Given the description of an element on the screen output the (x, y) to click on. 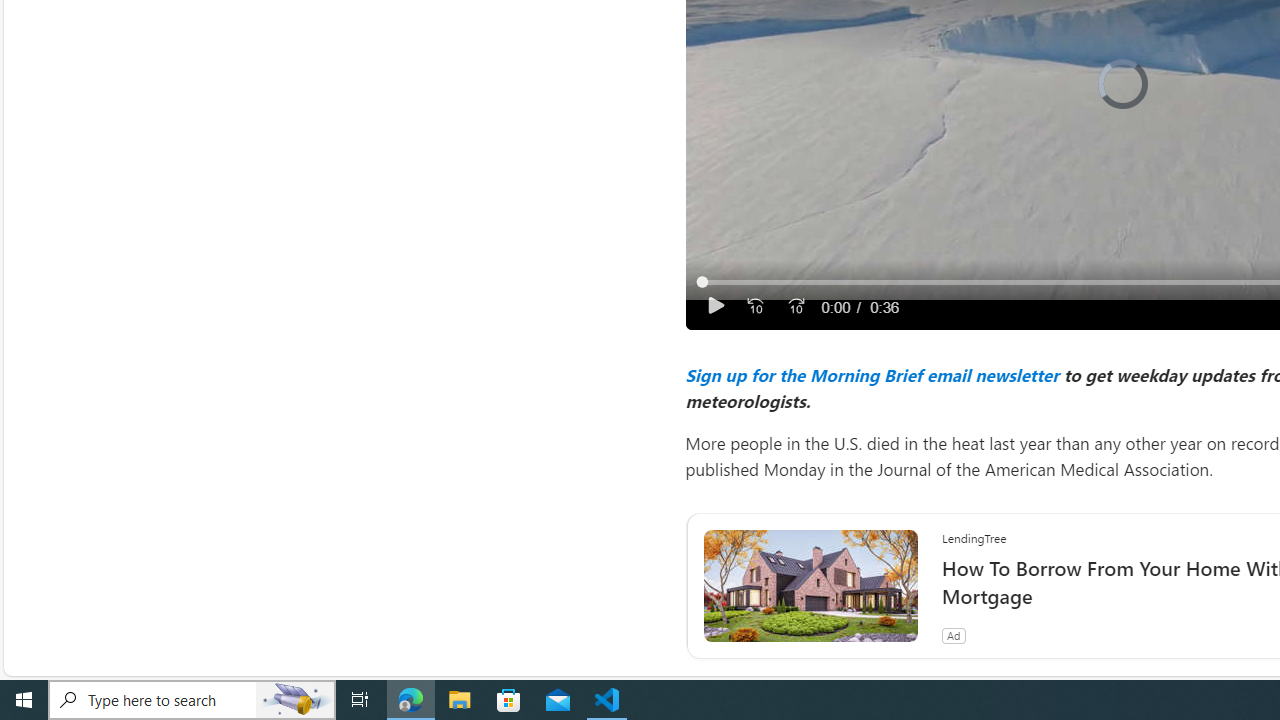
Play (715, 306)
Seek Back (754, 306)
Ad (953, 635)
Sign up for the Morning Brief email newsletter (871, 373)
Seek Forward (795, 306)
